Given the description of an element on the screen output the (x, y) to click on. 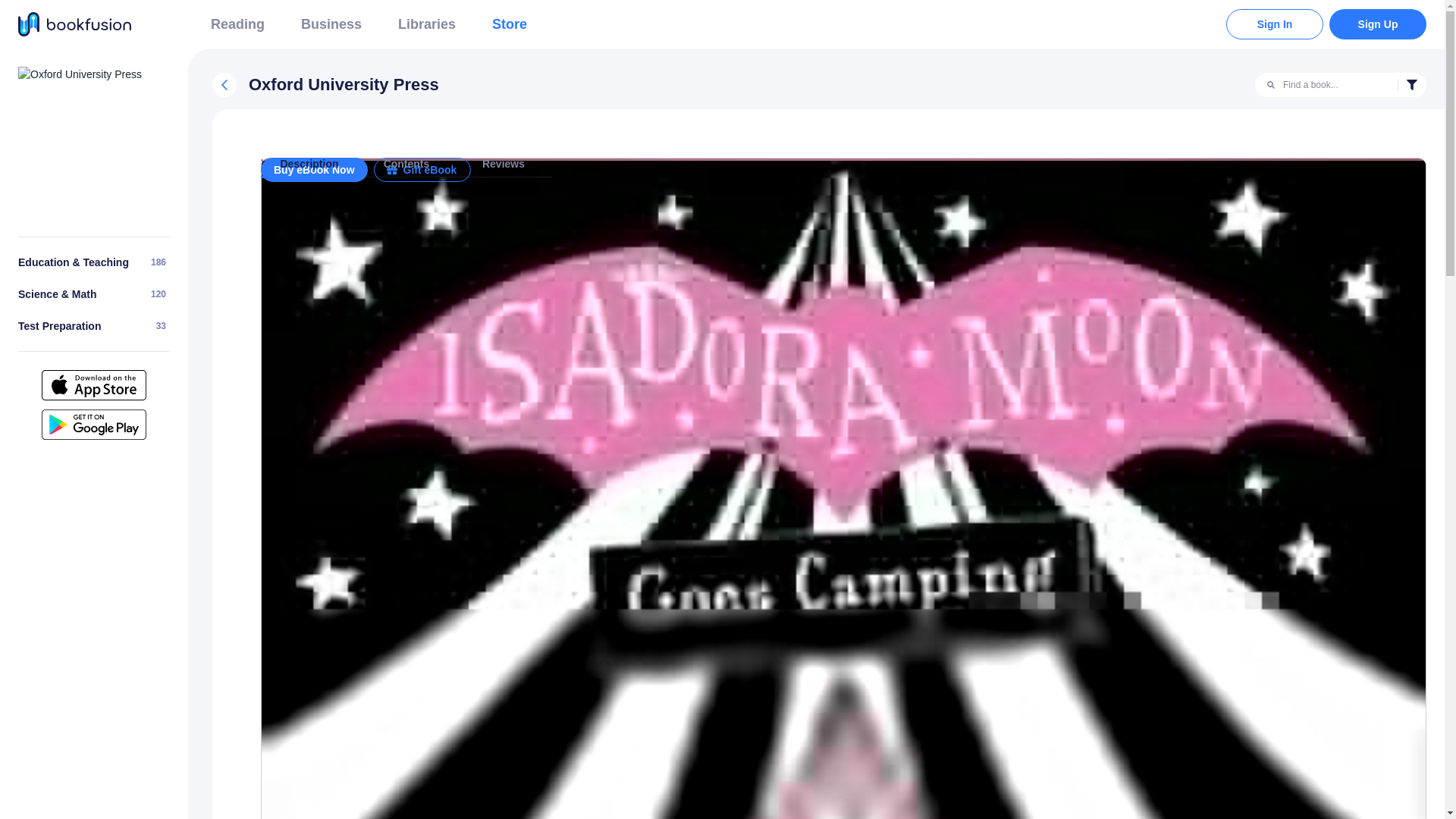
Harriet Muncaster (93, 325)
Business (296, 163)
Sign Up (331, 24)
Oxford University Press (1377, 24)
Gift eBook (79, 73)
Back (422, 169)
Open Filters (223, 84)
Store (1411, 84)
Libraries (509, 24)
Test Preparation (426, 24)
Sign In (58, 325)
Reading (1274, 24)
Isadora Moon Goes Camping (237, 24)
Buy eBook Now (843, 186)
